Given the description of an element on the screen output the (x, y) to click on. 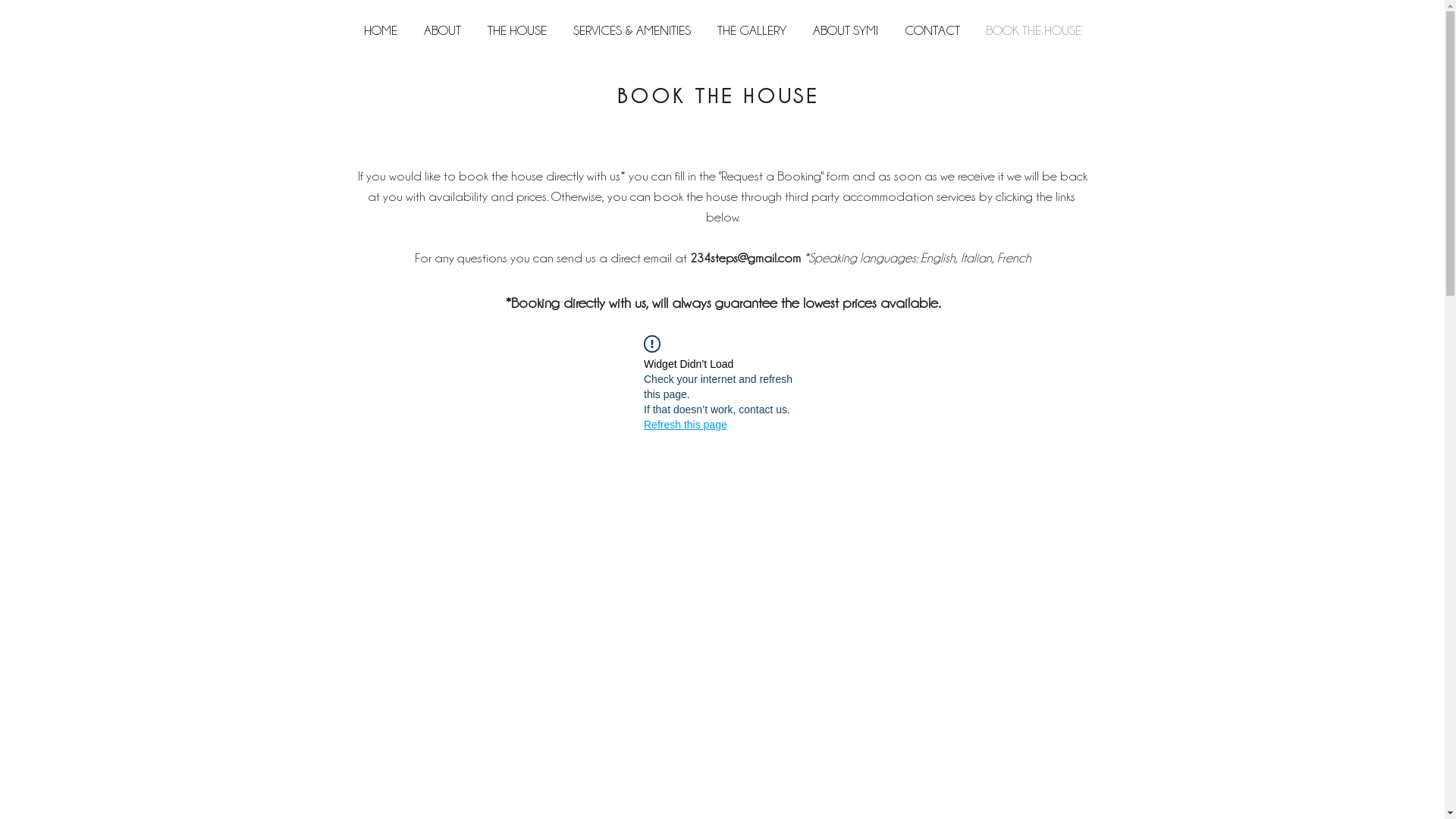
SERVICES & AMENITIES Element type: text (631, 30)
ABOUT Element type: text (442, 30)
HOME Element type: text (380, 30)
ABOUT SYMI Element type: text (845, 30)
THE GALLERY Element type: text (751, 30)
Refresh this page Element type: text (685, 424)
CONTACT Element type: text (931, 30)
BOOK THE HOUSE Element type: text (1032, 30)
THE HOUSE Element type: text (517, 30)
234steps@gmail.com Element type: text (745, 257)
